Given the description of an element on the screen output the (x, y) to click on. 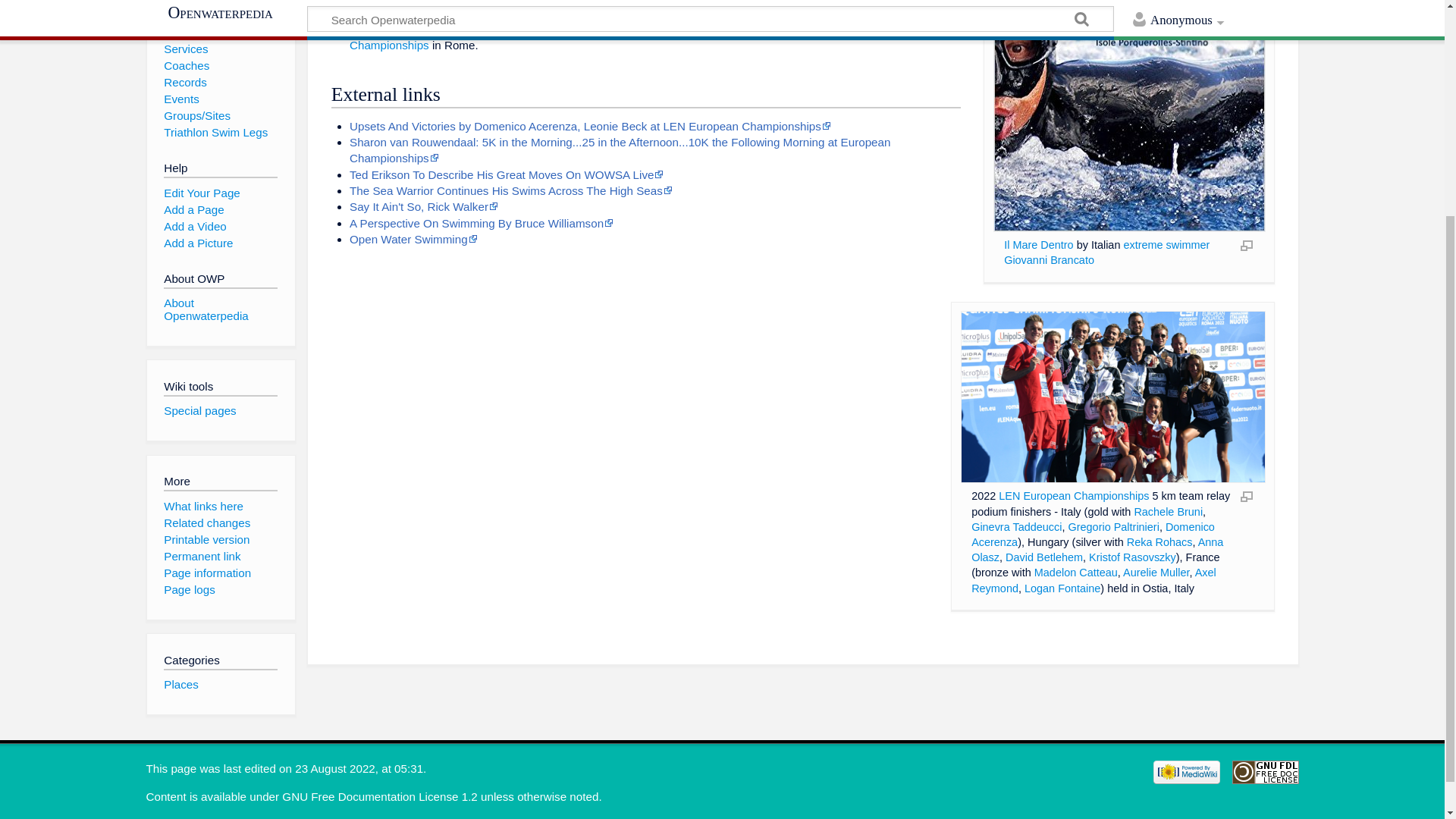
Anna Olasz (1097, 549)
Il Mare Dentro (1038, 244)
Il Mare Dentro (1038, 244)
Ginevra Taddeucci (1016, 526)
open water swimming (678, 28)
extreme swimmer (1165, 244)
Madelon Catteau (1075, 572)
Say It Ain't So, Rick Walker (423, 205)
Enlarge (1246, 244)
Ginevra Taddeucci (1016, 526)
Logan Fontaine (1062, 588)
Axel Reymond (1093, 579)
A Perspective On Swimming By Bruce Williamson (480, 223)
FINA World Swimming Championships (652, 9)
LEN European Championships (1073, 495)
